Given the description of an element on the screen output the (x, y) to click on. 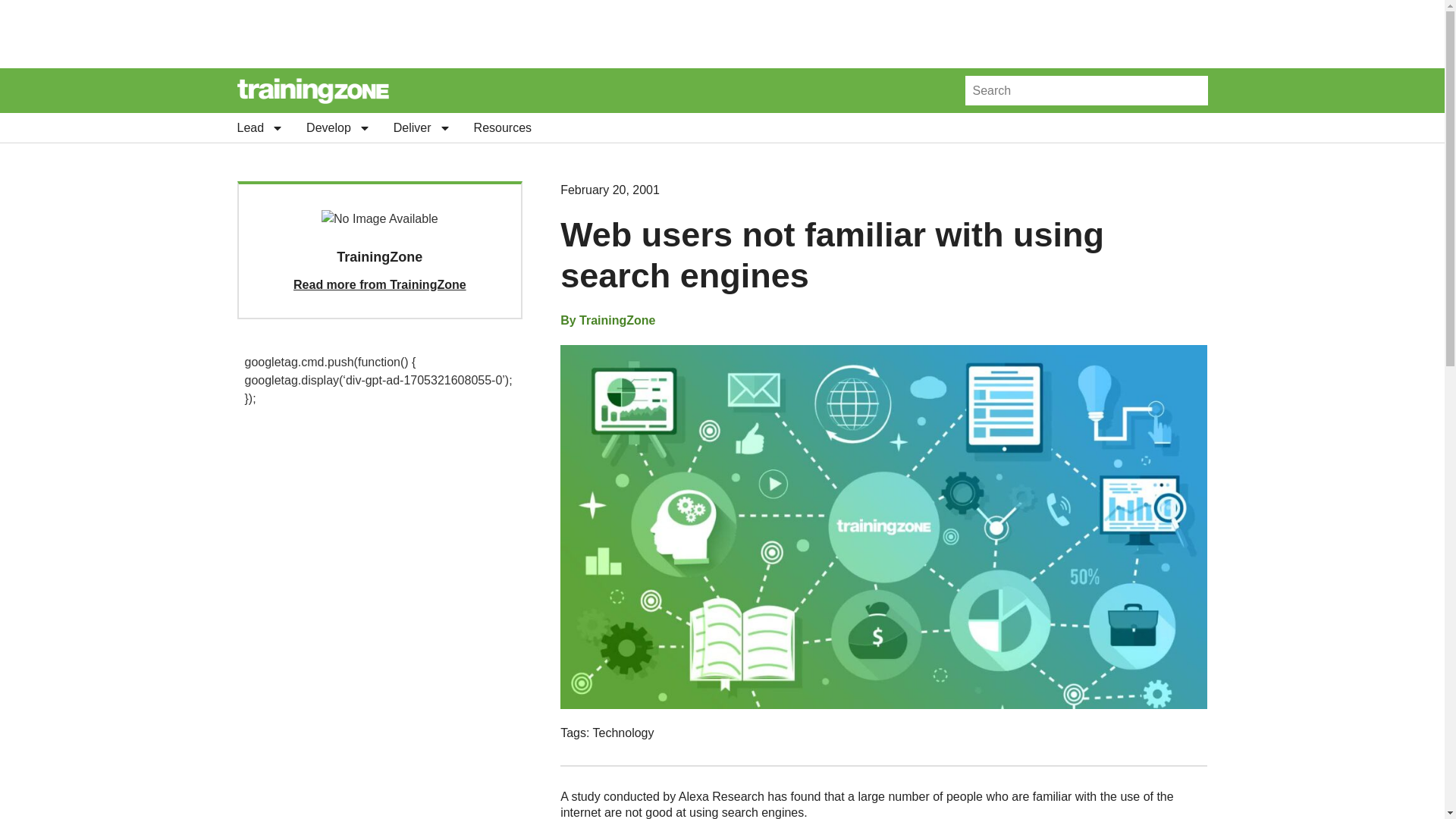
Alexa Research (721, 796)
Read more from TrainingZone (379, 284)
Develop (338, 127)
Lead (259, 127)
By TrainingZone (607, 321)
Technology (622, 732)
Deliver (422, 127)
Resources (502, 127)
